Given the description of an element on the screen output the (x, y) to click on. 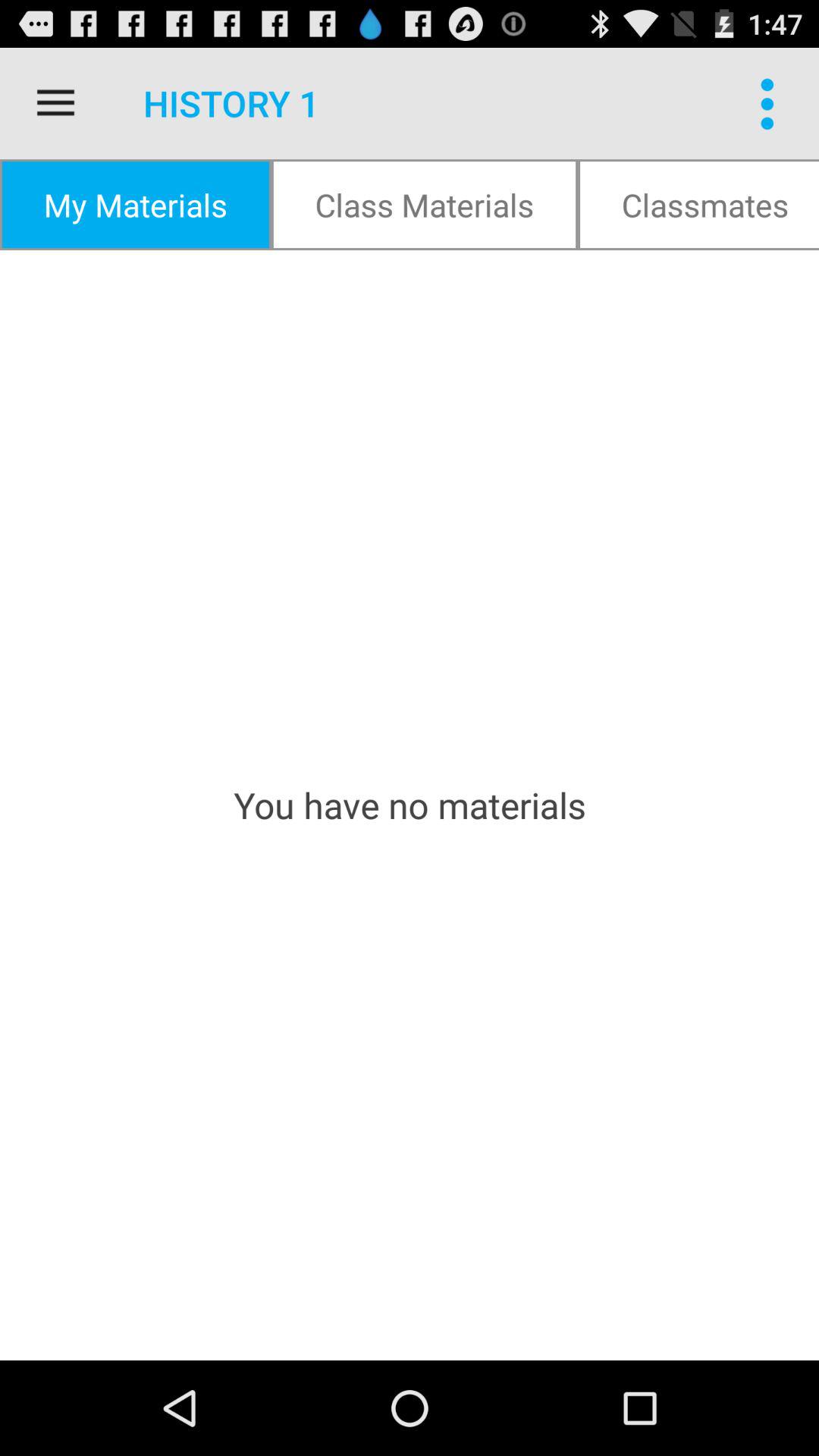
tap icon to the left of history 1 (55, 103)
